Given the description of an element on the screen output the (x, y) to click on. 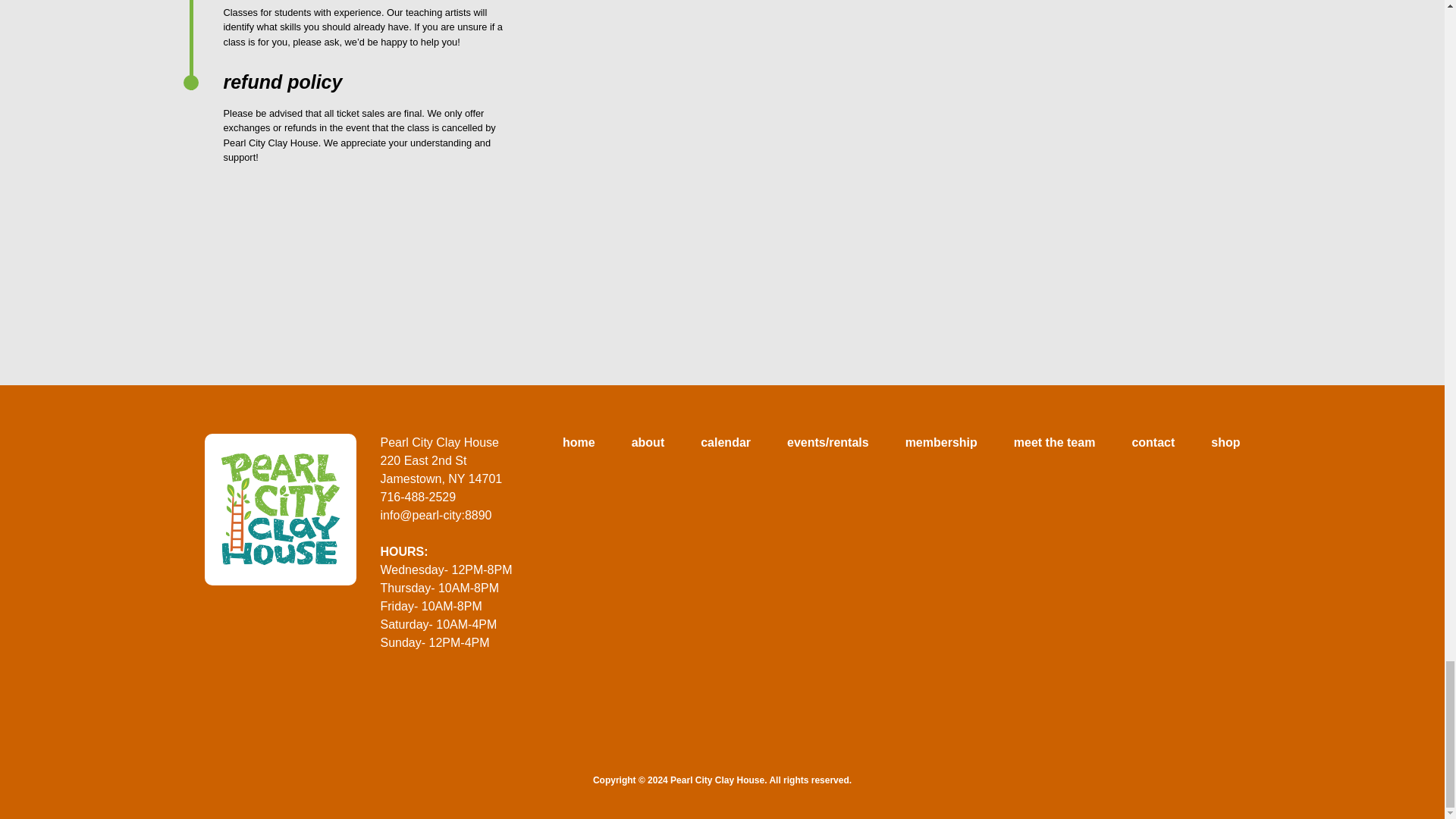
shop (1225, 443)
home (578, 443)
contact (1152, 443)
calendar (725, 443)
about (648, 443)
meet the team (1054, 443)
membership (940, 443)
